Given the description of an element on the screen output the (x, y) to click on. 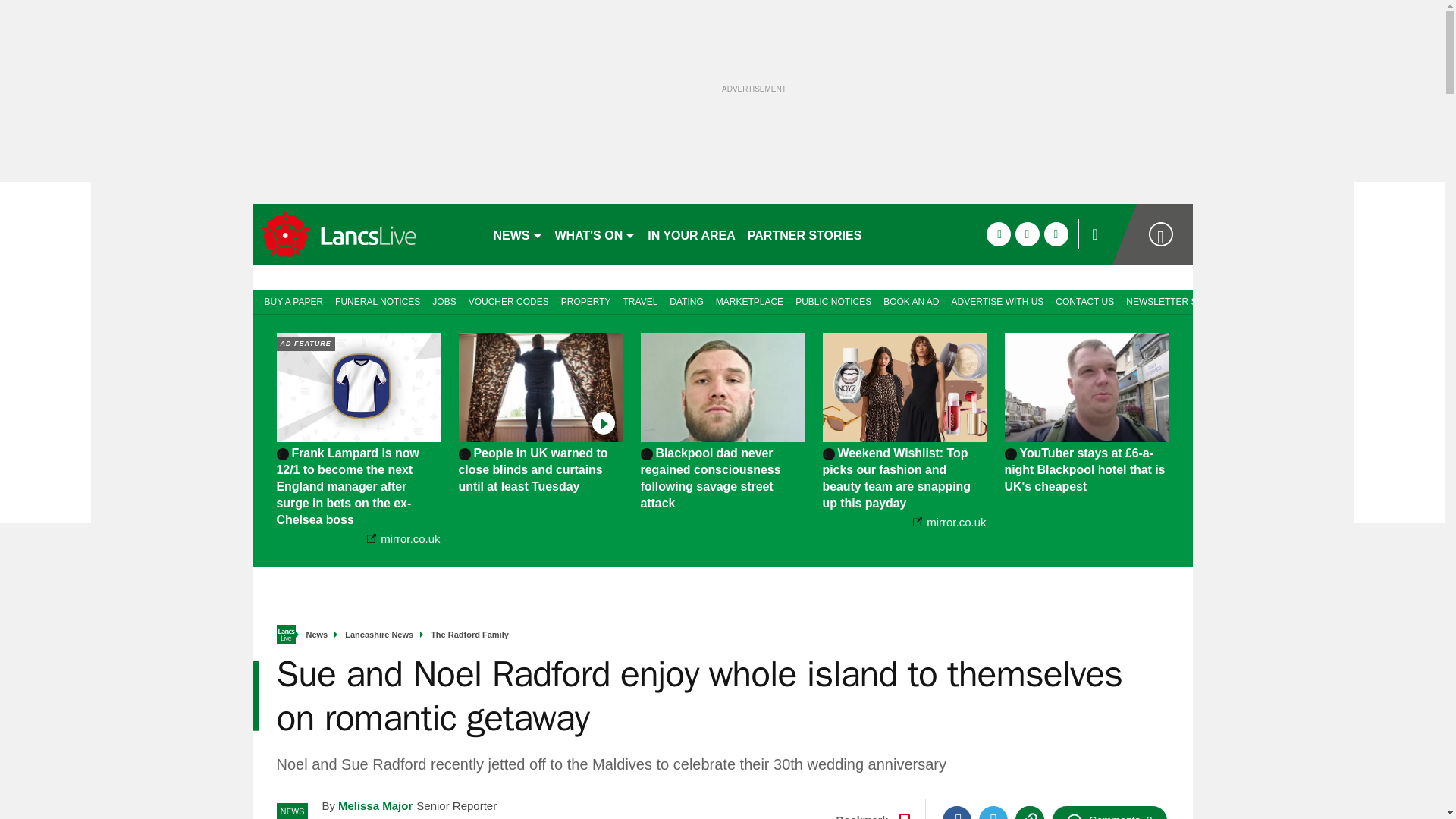
instagram (1055, 233)
MARKETPLACE (749, 300)
facebook (997, 233)
IN YOUR AREA (691, 233)
BOOK AN AD (910, 300)
Twitter (992, 812)
VOUCHER CODES (508, 300)
BUY A PAPER (290, 300)
FUNERAL NOTICES (377, 300)
accrington (365, 233)
ADVERTISE WITH US (996, 300)
TRAVEL (640, 300)
twitter (1026, 233)
PUBLIC NOTICES (833, 300)
